Given the description of an element on the screen output the (x, y) to click on. 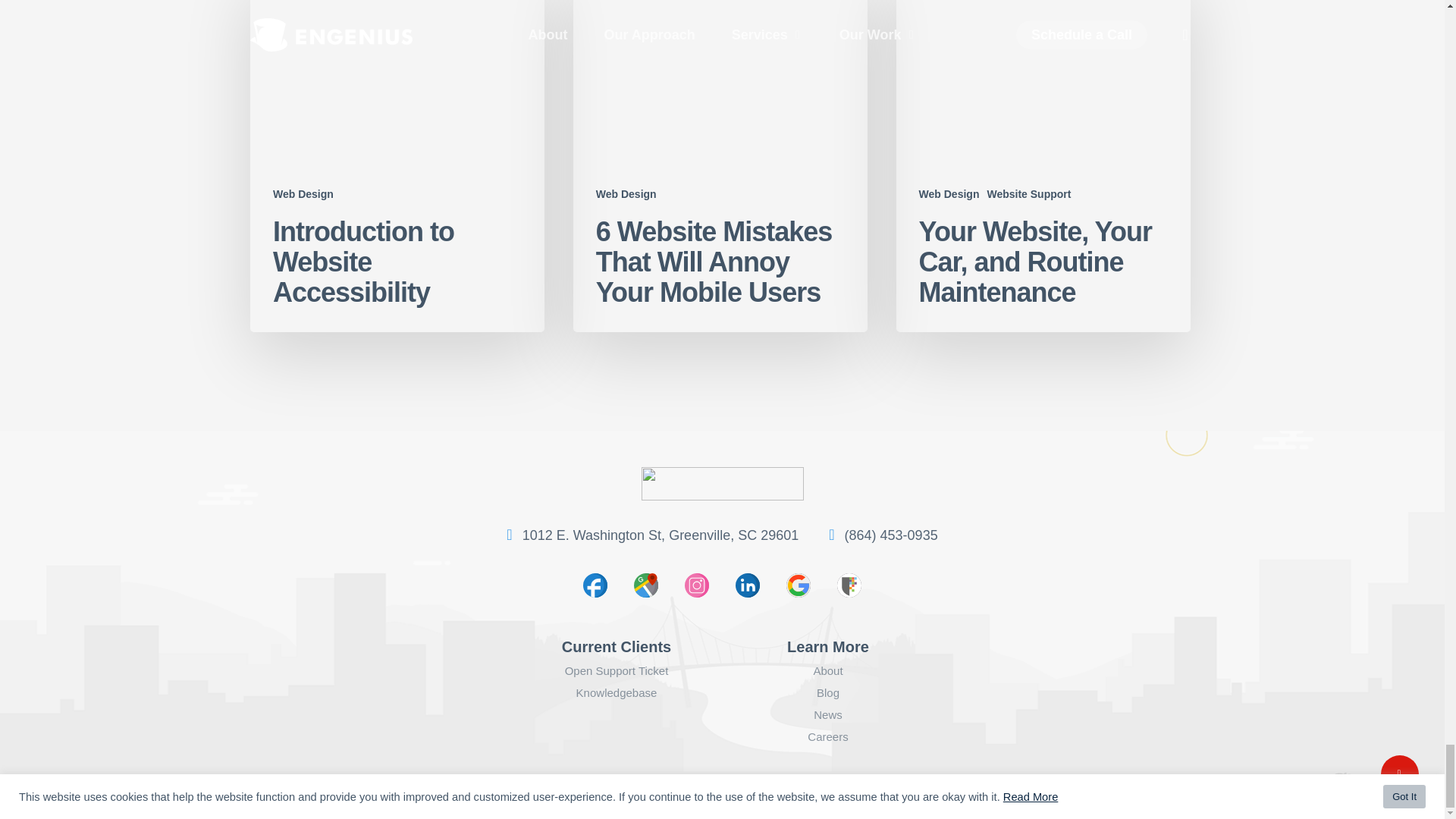
Web Design (303, 194)
Web Design (948, 194)
Web Design (625, 194)
Website Support (1028, 194)
